Given the description of an element on the screen output the (x, y) to click on. 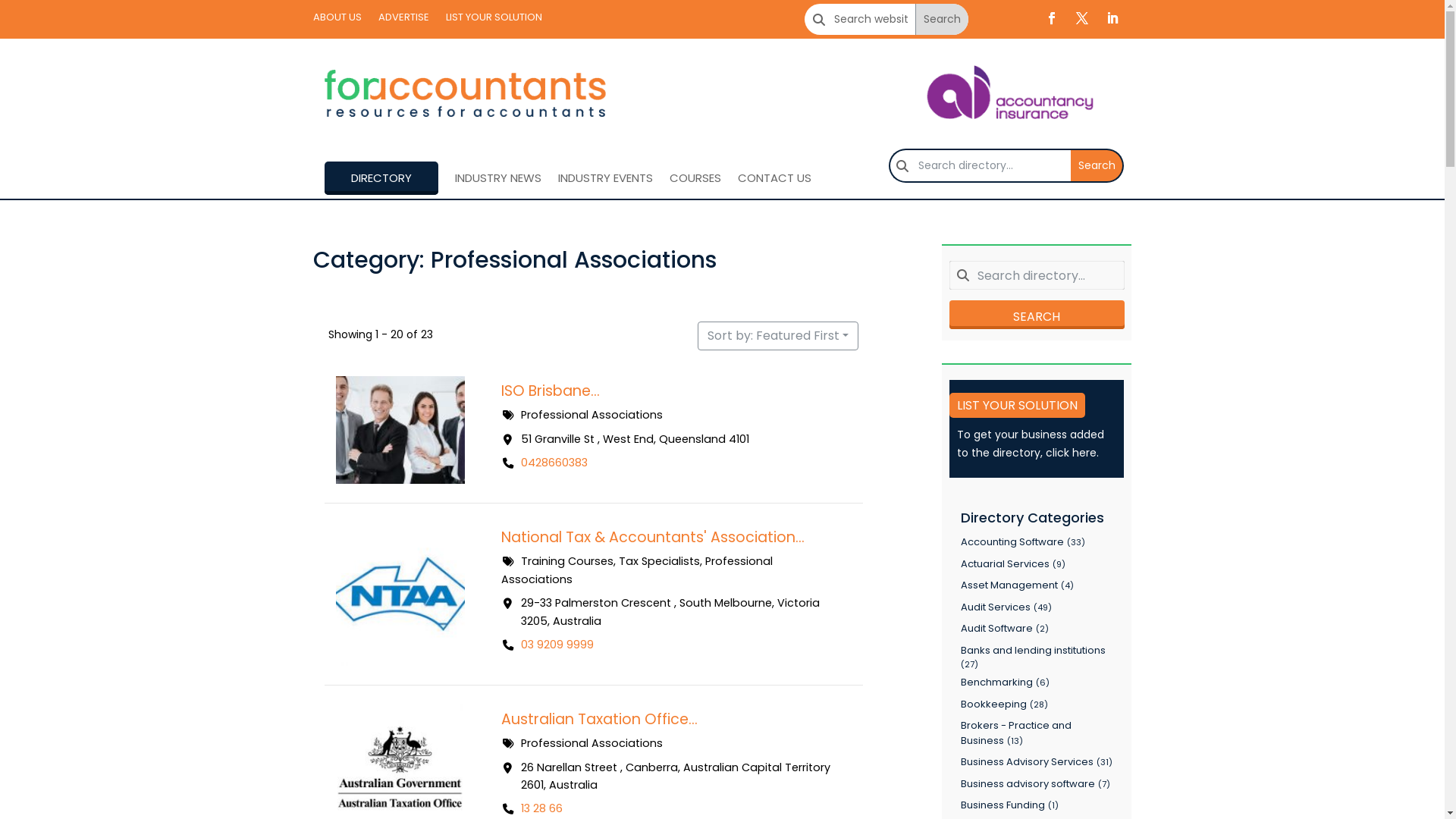
Benchmarking Element type: text (996, 681)
Follow on Facebook Element type: hover (1050, 18)
Business advisory software Element type: text (1027, 782)
Follow on X Element type: hover (1081, 18)
SEARCH Element type: text (1036, 314)
ADVERTISE Element type: text (402, 20)
Follow on LinkedIn Element type: hover (1111, 18)
Banks and lending institutions Element type: text (1032, 649)
0428660383 Element type: text (553, 461)
Sort by: Featured First Element type: text (777, 335)
Bookkeeping Element type: text (993, 703)
Asset Management Element type: text (1008, 584)
03 9209 9999 Element type: text (556, 644)
Audit Services Element type: text (995, 606)
LIST YOUR SOLUTION Element type: text (1017, 404)
Australian Taxation Office... Element type: text (598, 719)
13 28 66 Element type: text (540, 807)
INDUSTRY NEWS Element type: text (498, 177)
CONTACT US Element type: text (773, 177)
ABOUT US Element type: text (336, 20)
Business Advisory Services Element type: text (1026, 761)
LIST YOUR SOLUTION Element type: text (493, 20)
COURSES Element type: text (694, 177)
National Tax & Accountants' Association... Element type: text (651, 536)
Search Element type: text (1096, 165)
Accounting Software Element type: text (1011, 541)
DIRECTORY Element type: text (381, 177)
ISO Brisbane... Element type: text (549, 390)
INDUSTRY EVENTS Element type: text (605, 177)
Brokers - Practice and Business Element type: text (1015, 732)
Search Element type: text (940, 18)
Business Funding Element type: text (1002, 804)
logo_01 Element type: hover (463, 95)
Actuarial Services Element type: text (1004, 562)
Audit Software Element type: text (996, 628)
